Given the description of an element on the screen output the (x, y) to click on. 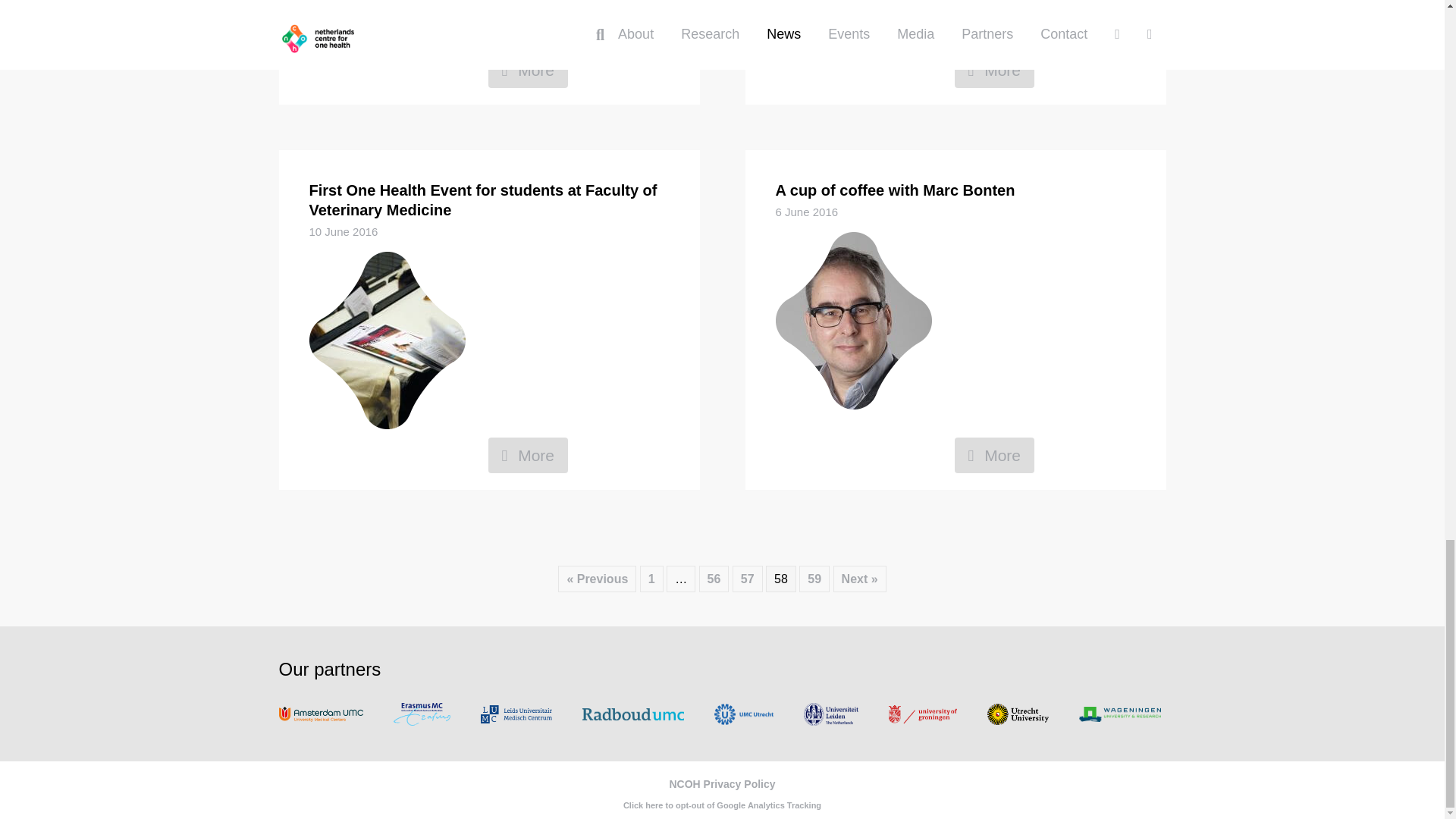
56 (713, 578)
More (993, 455)
59 (814, 578)
More (993, 69)
More (528, 455)
57 (747, 578)
A cup of coffee with Marc Bonten (894, 190)
A cup of coffee with Marc Bonten (894, 190)
More (993, 69)
